Given the description of an element on the screen output the (x, y) to click on. 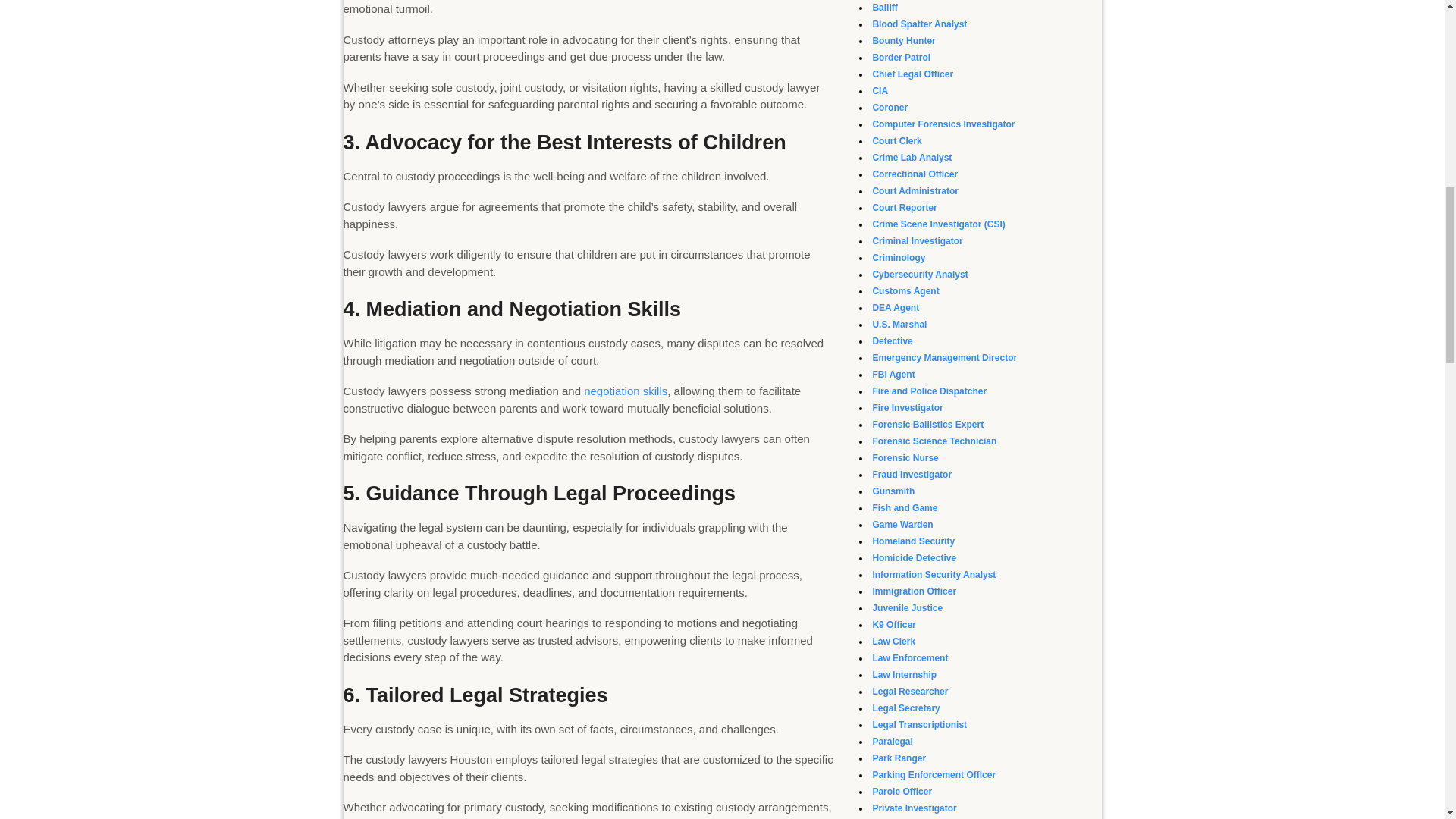
Court Administrator (915, 190)
Computer Forensics Investigator (943, 123)
Cybersecurity Analyst (920, 274)
Correctional Officer (915, 173)
Border Patrol (901, 57)
Bounty Hunter (903, 40)
Coroner (889, 107)
negotiation skills (624, 390)
CIA (880, 90)
Court Reporter (904, 207)
